Given the description of an element on the screen output the (x, y) to click on. 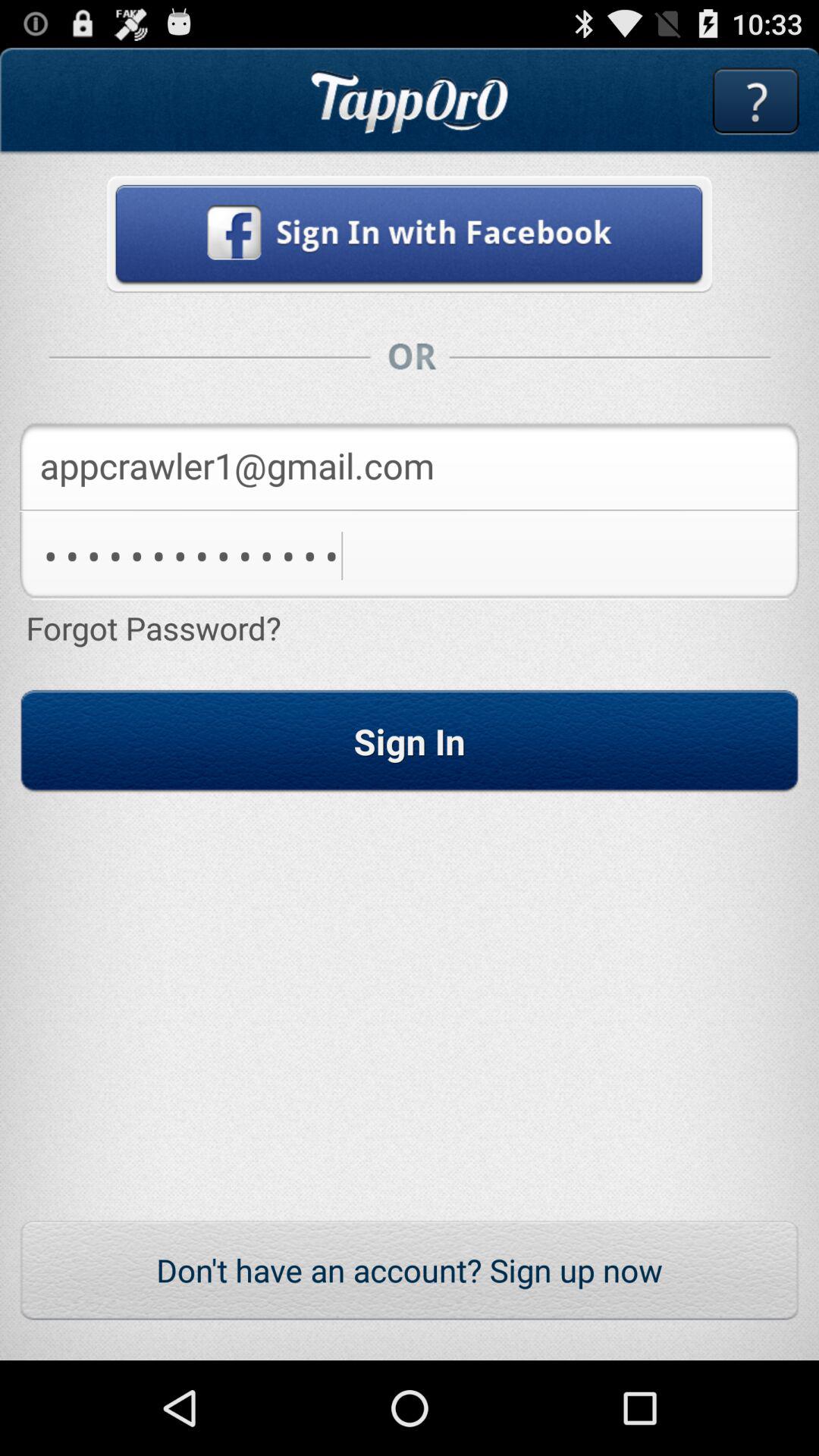
open help menu (755, 101)
